Given the description of an element on the screen output the (x, y) to click on. 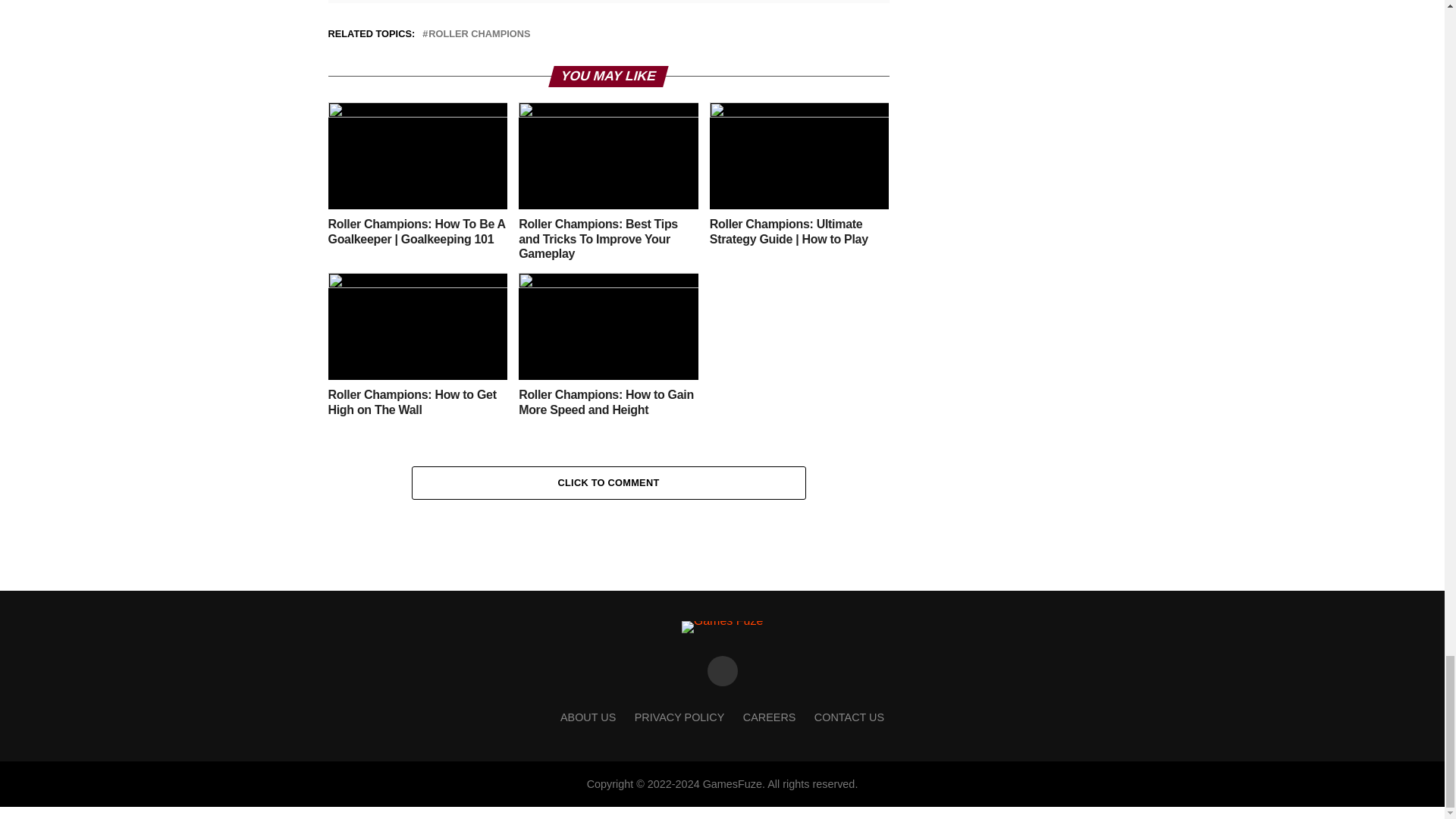
ROLLER CHAMPIONS (478, 34)
